Given the description of an element on the screen output the (x, y) to click on. 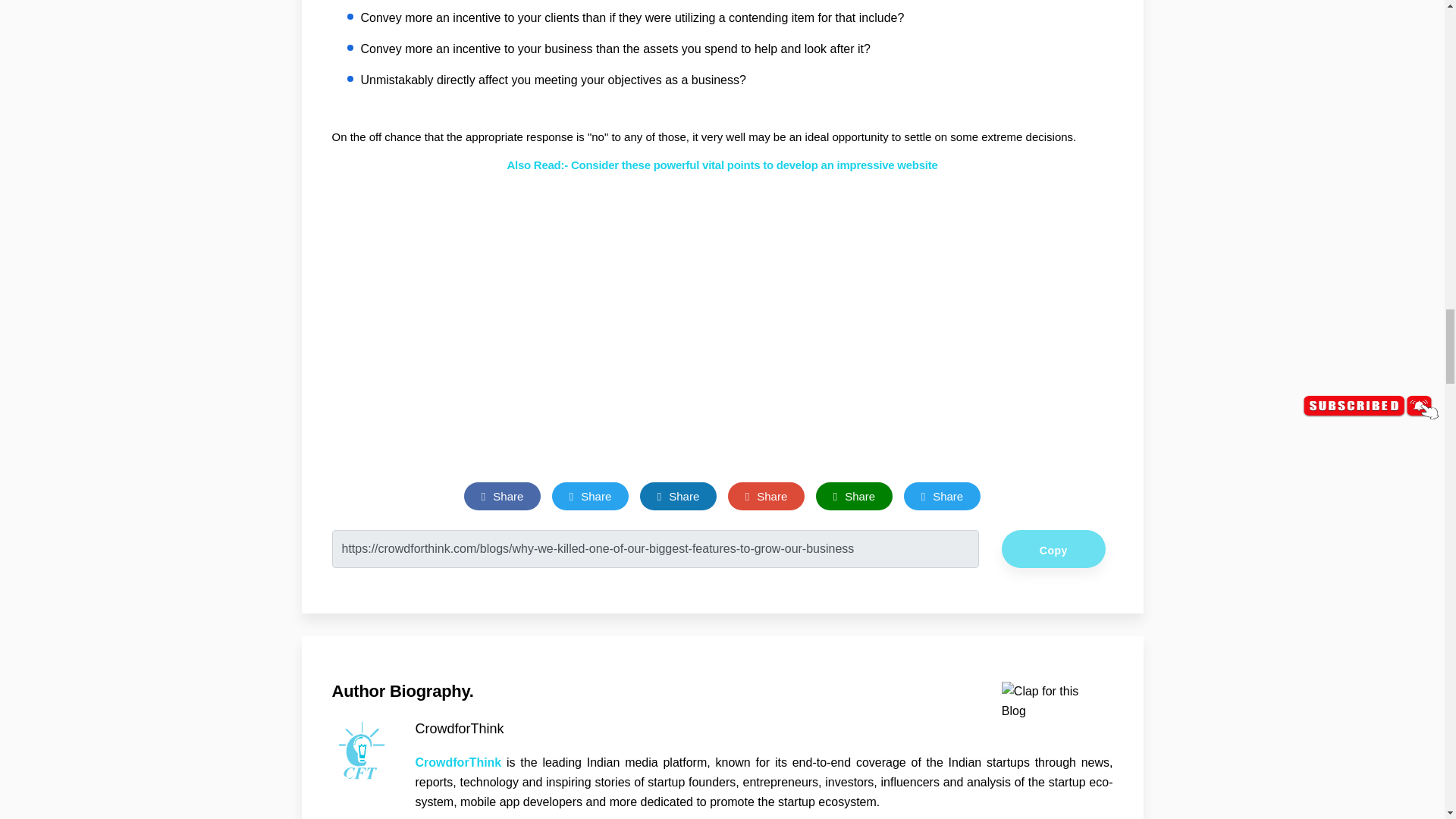
YouTube video player (945, 356)
Clap for this Blog (1050, 701)
CrowdforThink (362, 751)
